Given the description of an element on the screen output the (x, y) to click on. 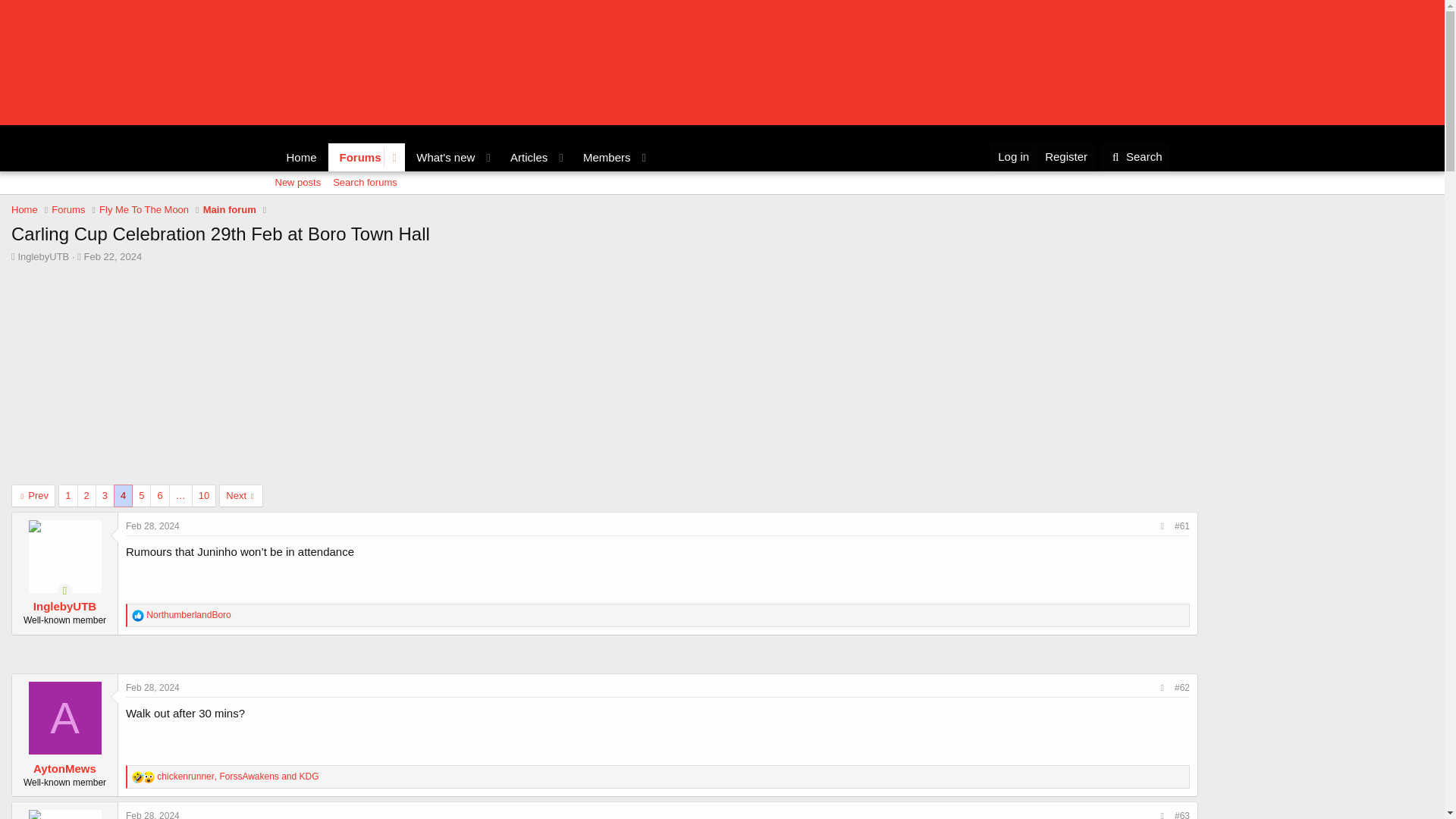
Feb 28, 2024 at 7:00 PM (152, 687)
New posts (296, 182)
Fly Me To The Moon (144, 209)
Search forums (364, 182)
Members (720, 199)
Articles (602, 157)
Home (524, 157)
Search (24, 209)
Haha (464, 157)
Start date (1135, 156)
Forums (138, 776)
Forums (79, 256)
